Given the description of an element on the screen output the (x, y) to click on. 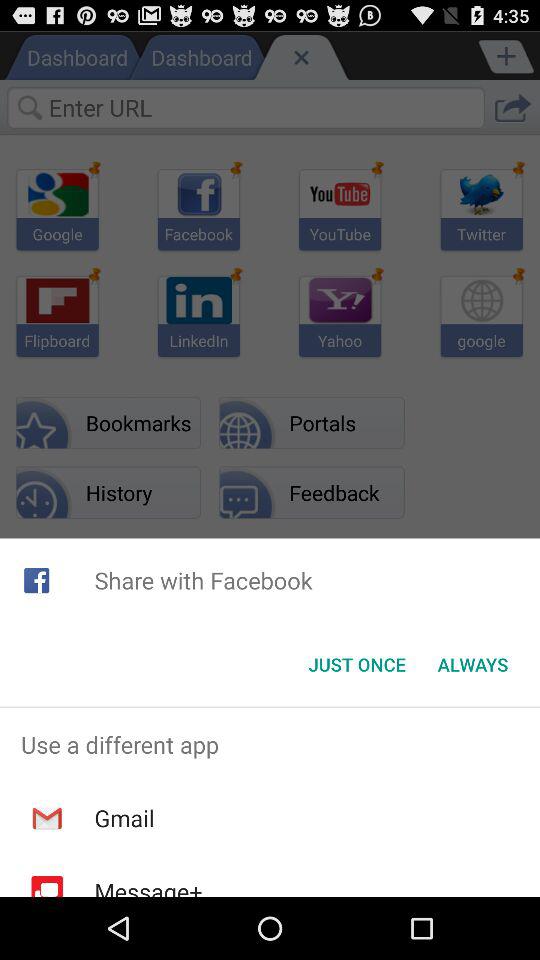
launch message+ (148, 885)
